Given the description of an element on the screen output the (x, y) to click on. 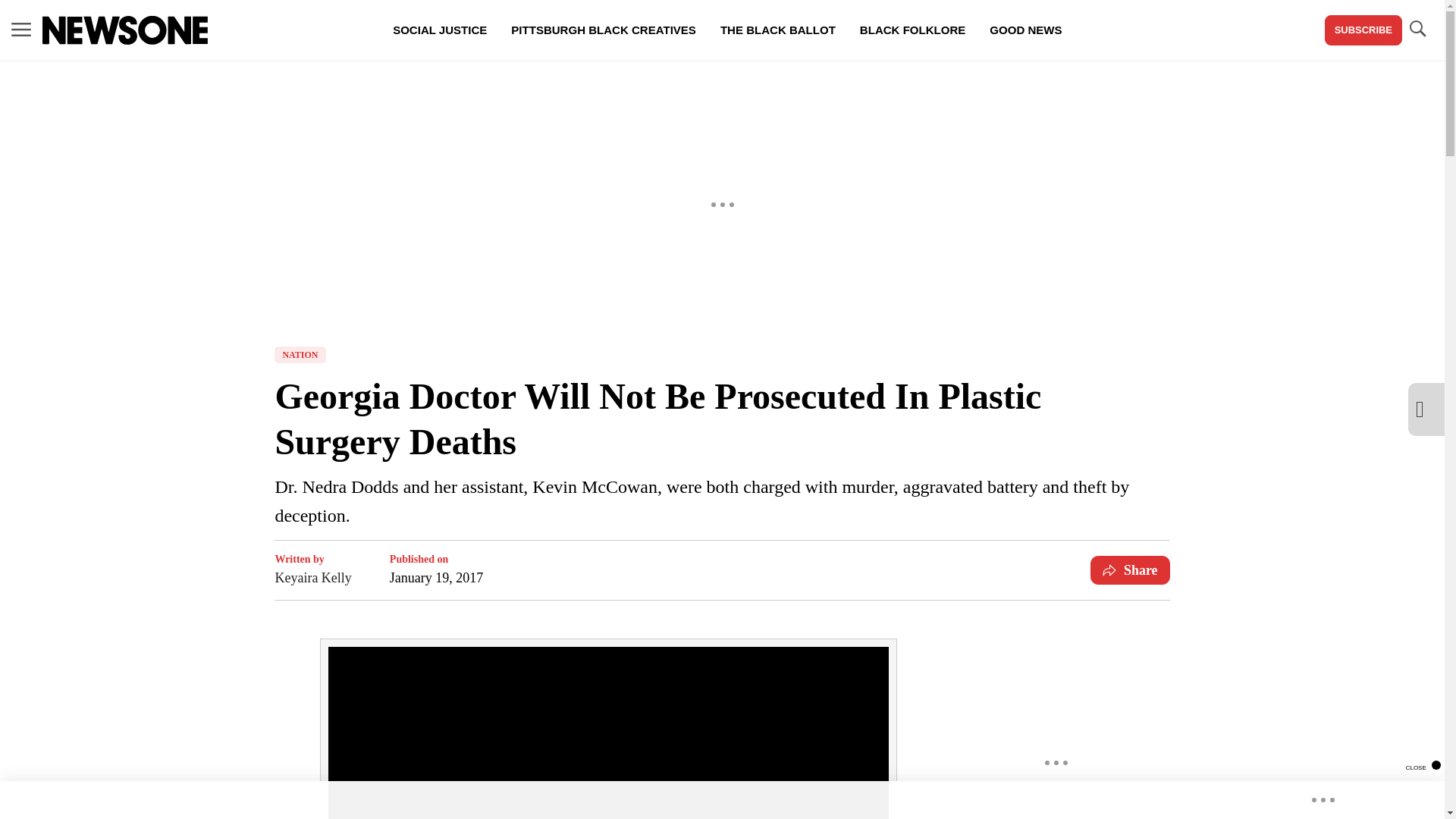
GOOD NEWS (1025, 30)
MENU (20, 29)
BLACK FOLKLORE (911, 30)
NATION (299, 354)
THE BLACK BALLOT (777, 30)
SUBSCRIBE (1363, 30)
PITTSBURGH BLACK CREATIVES (603, 30)
Keyaira Kelly (312, 577)
Share (1130, 570)
SOCIAL JUSTICE (439, 30)
TOGGLE SEARCH (1417, 30)
MENU (20, 30)
TOGGLE SEARCH (1417, 28)
